Given the description of an element on the screen output the (x, y) to click on. 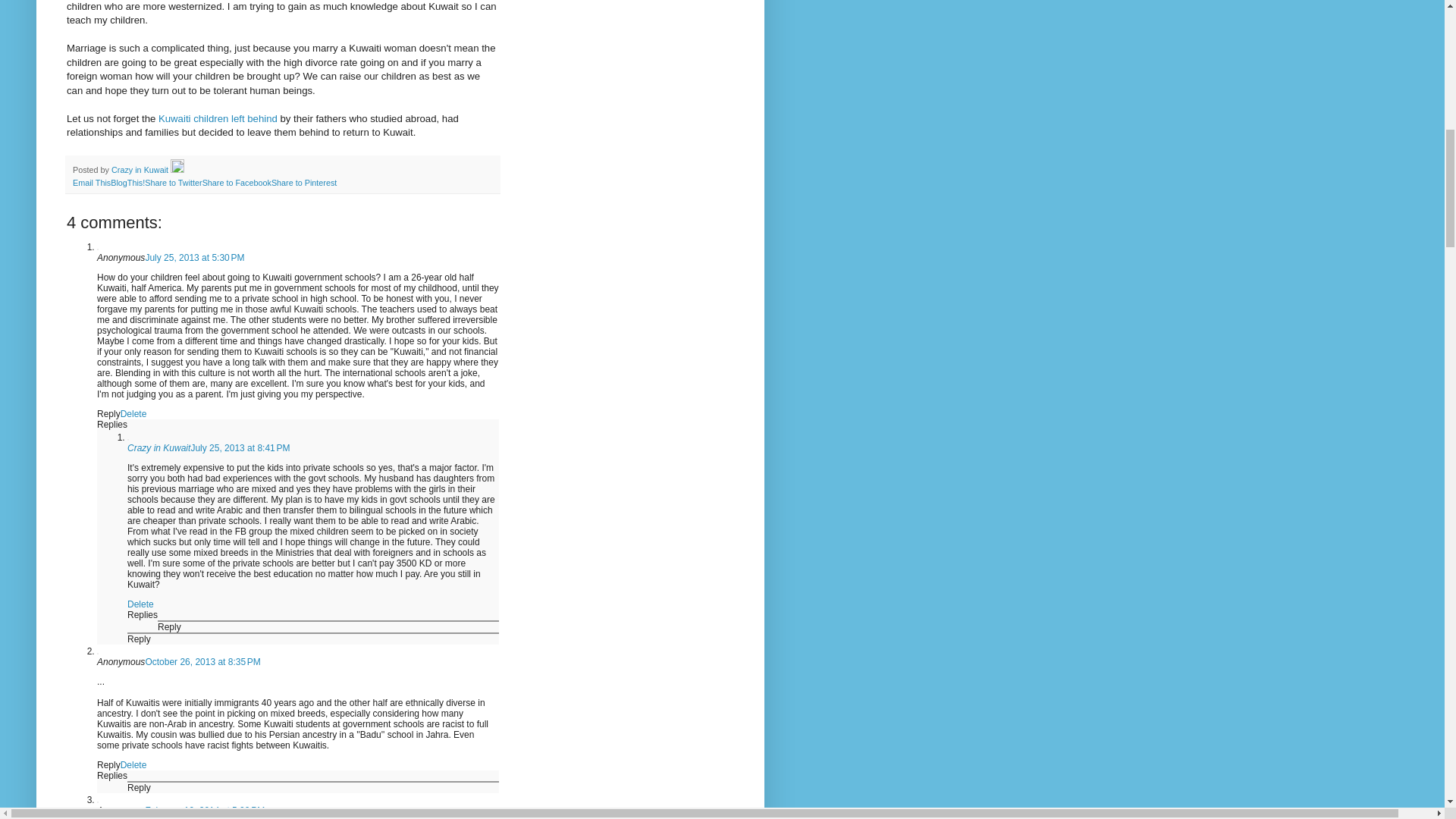
Crazy in Kuwait (159, 448)
Reply (108, 765)
Kuwaiti children left behind (218, 118)
Reply (168, 626)
Share to Twitter (173, 182)
Share to Facebook (236, 182)
Replies (112, 424)
BlogThis! (127, 182)
Reply (139, 638)
author profile (141, 169)
Email This (91, 182)
Share to Facebook (236, 182)
Crazy in Kuwait (141, 169)
